Given the description of an element on the screen output the (x, y) to click on. 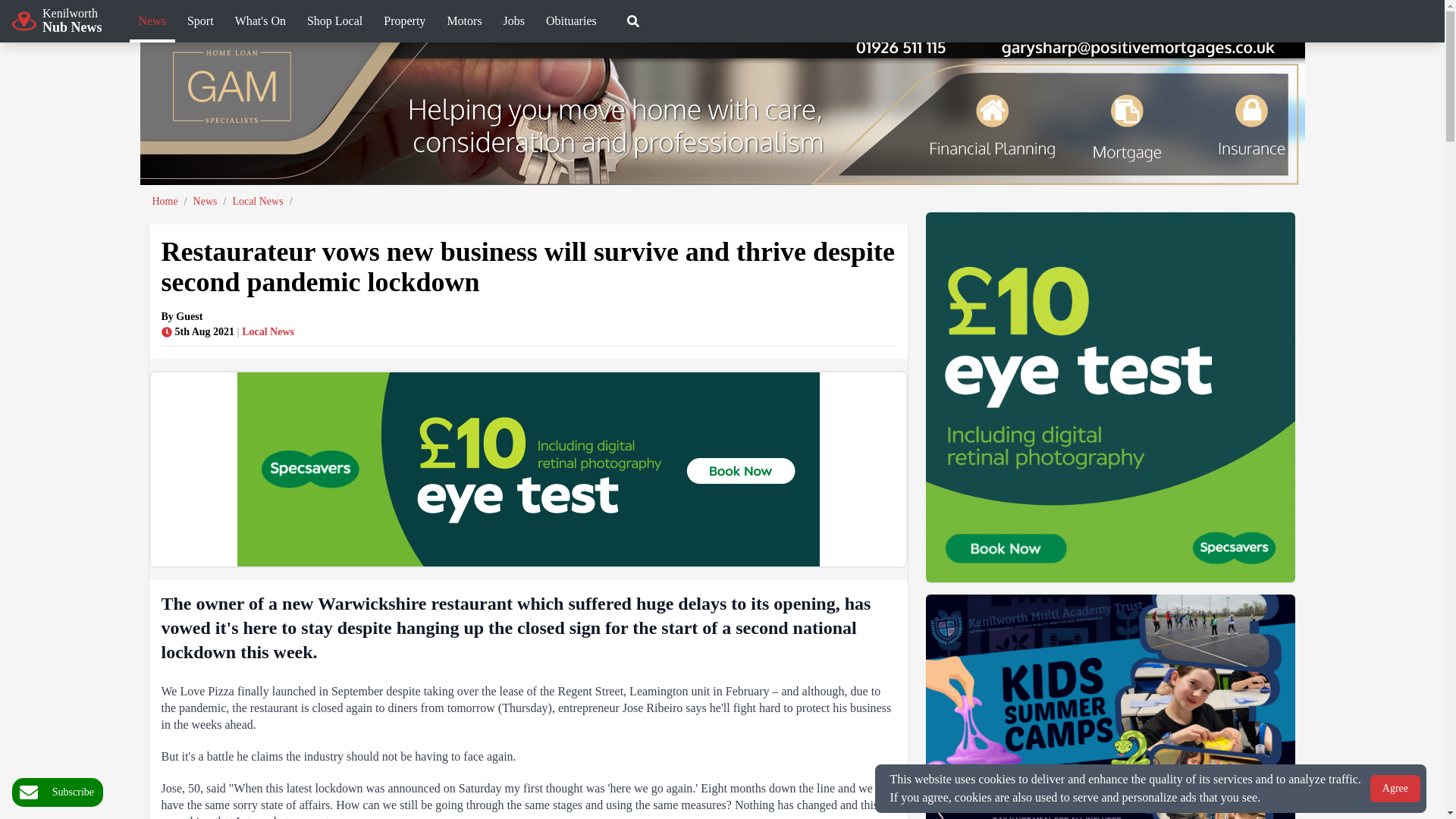
News (56, 20)
3rd party ad content (151, 22)
Sport (706, 20)
What's On (199, 22)
Specsavers Kenilworth (260, 22)
Shop Local (526, 469)
